Given the description of an element on the screen output the (x, y) to click on. 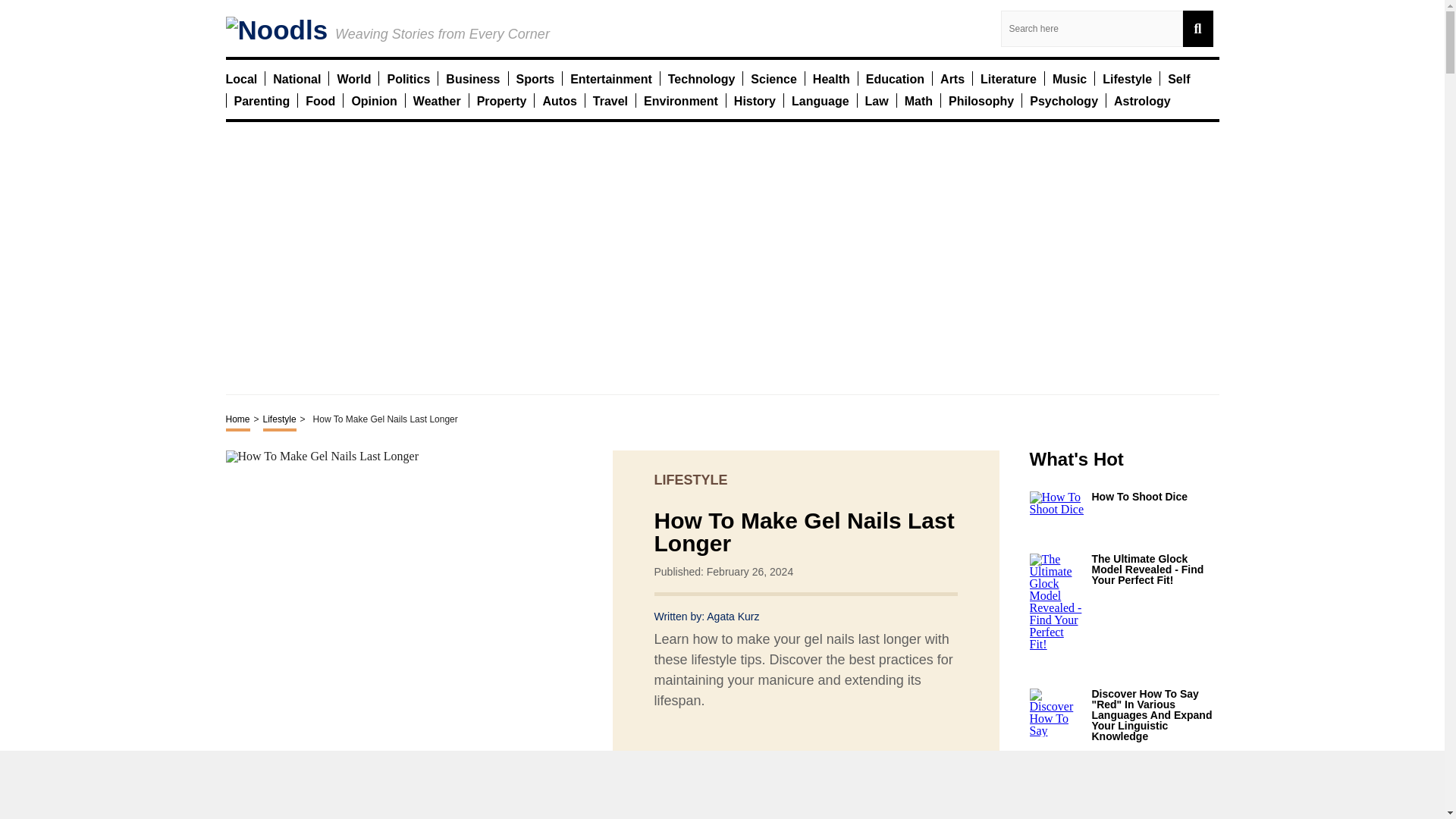
Share on Twitter (732, 759)
Arts (951, 78)
Lifestyle (1126, 78)
History (754, 100)
World (353, 78)
Law (876, 100)
Politics (408, 78)
Weather (437, 100)
Sports (534, 78)
Travel (609, 100)
Psychology (1063, 100)
Music (1069, 78)
Share on Facebook (705, 759)
Philosophy (981, 100)
Technology (701, 78)
